Given the description of an element on the screen output the (x, y) to click on. 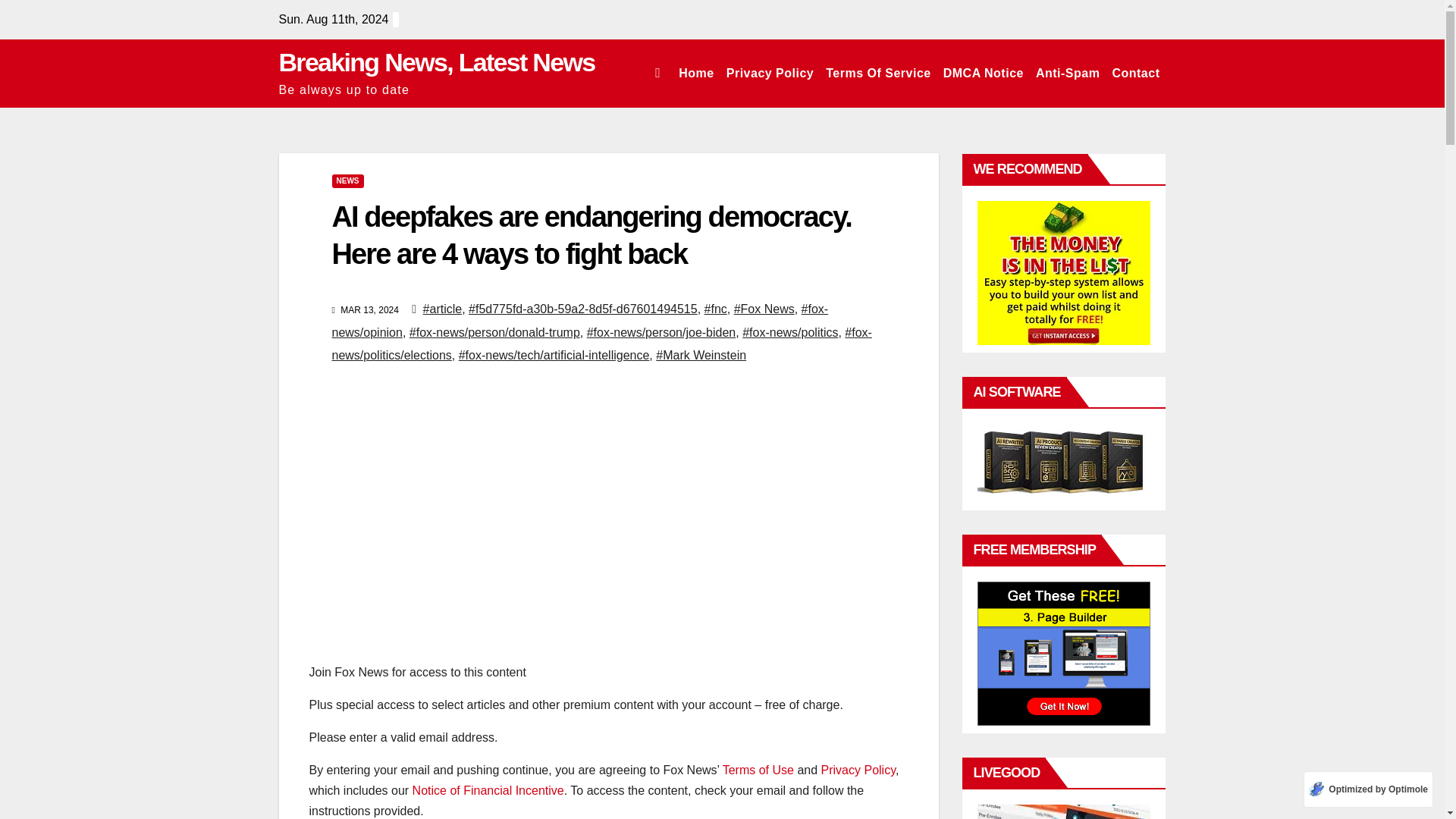
DMCA Notice (983, 73)
Terms of Service (877, 73)
Anti-Spam (1067, 73)
Notice of Financial Incentive (488, 789)
Breaking News, Latest News (437, 61)
NEWS (347, 181)
Terms Of Service (877, 73)
DMCA Notice (983, 73)
